Given the description of an element on the screen output the (x, y) to click on. 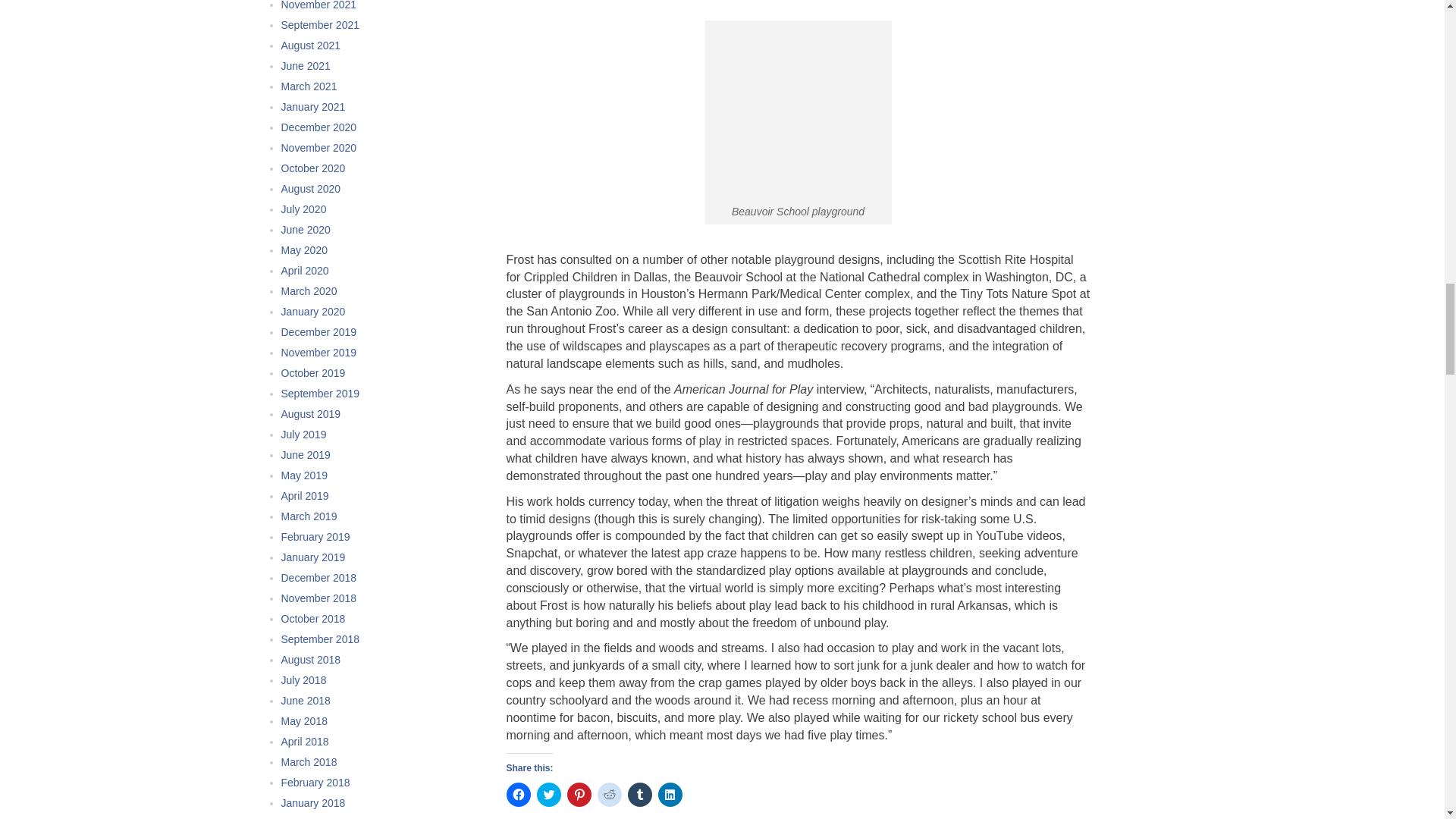
Click to share on Reddit (608, 794)
Click to share on Pinterest (579, 794)
Click to share on Twitter (548, 794)
Click to share on Facebook (518, 794)
Click to share on Tumblr (639, 794)
Click to share on LinkedIn (670, 794)
